Given the description of an element on the screen output the (x, y) to click on. 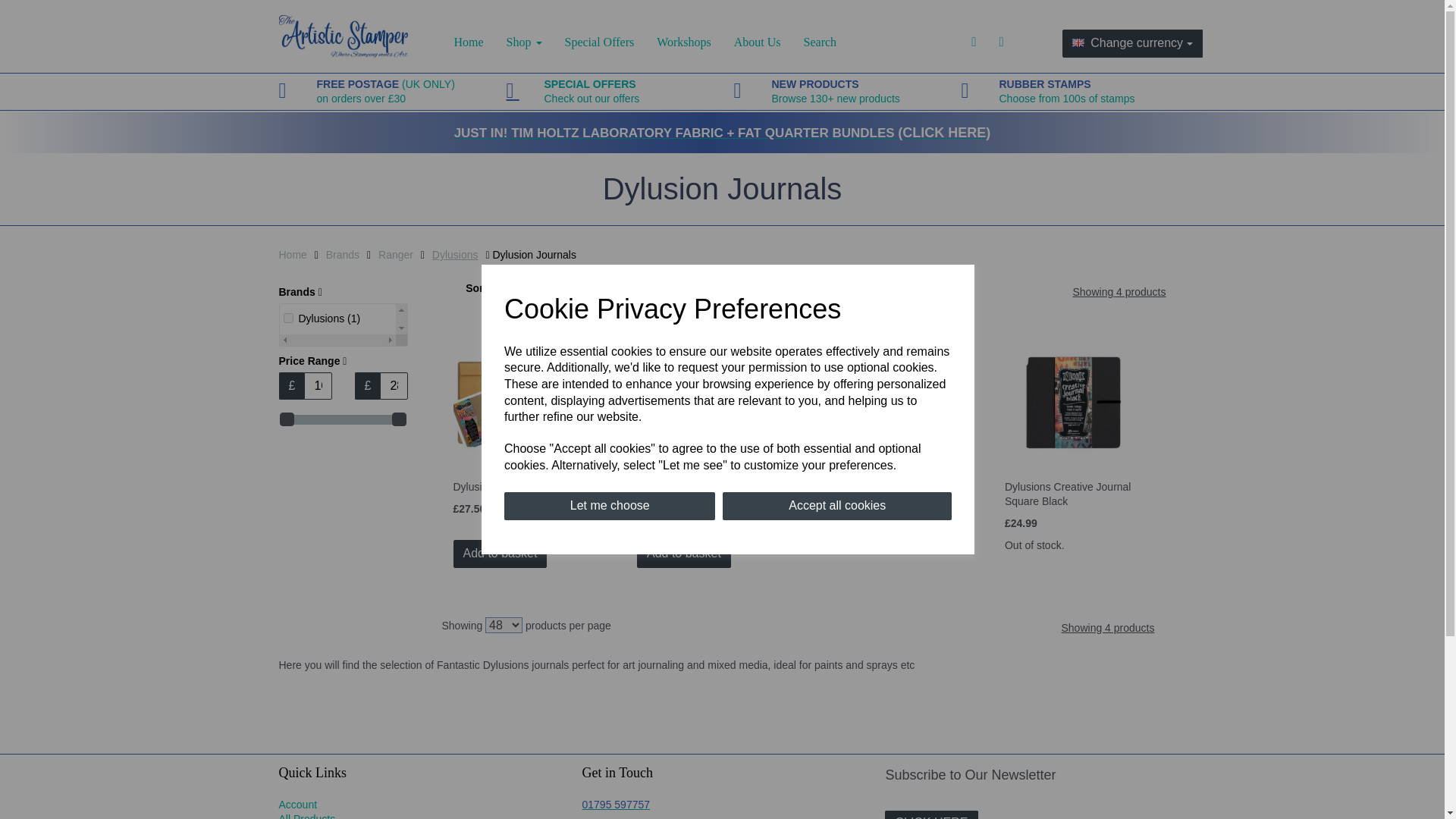
17 (288, 317)
About Us (1066, 90)
Special Offers (757, 42)
Search (599, 42)
Let me choose (820, 42)
Shop (608, 506)
Accept all cookies (524, 42)
Workshops (837, 506)
28 (683, 42)
Home (393, 385)
